Given the description of an element on the screen output the (x, y) to click on. 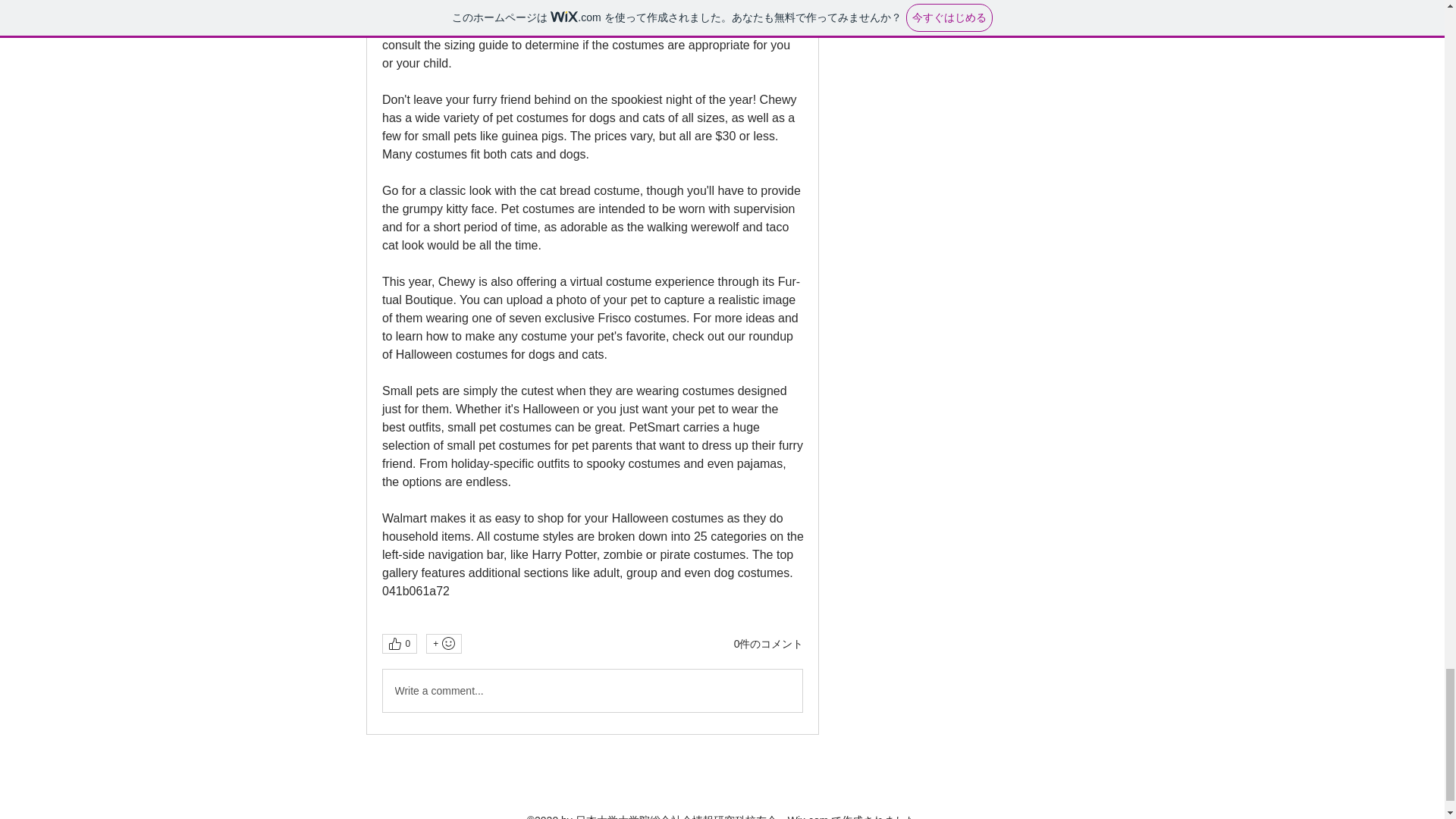
Write a comment... (591, 690)
